Given the description of an element on the screen output the (x, y) to click on. 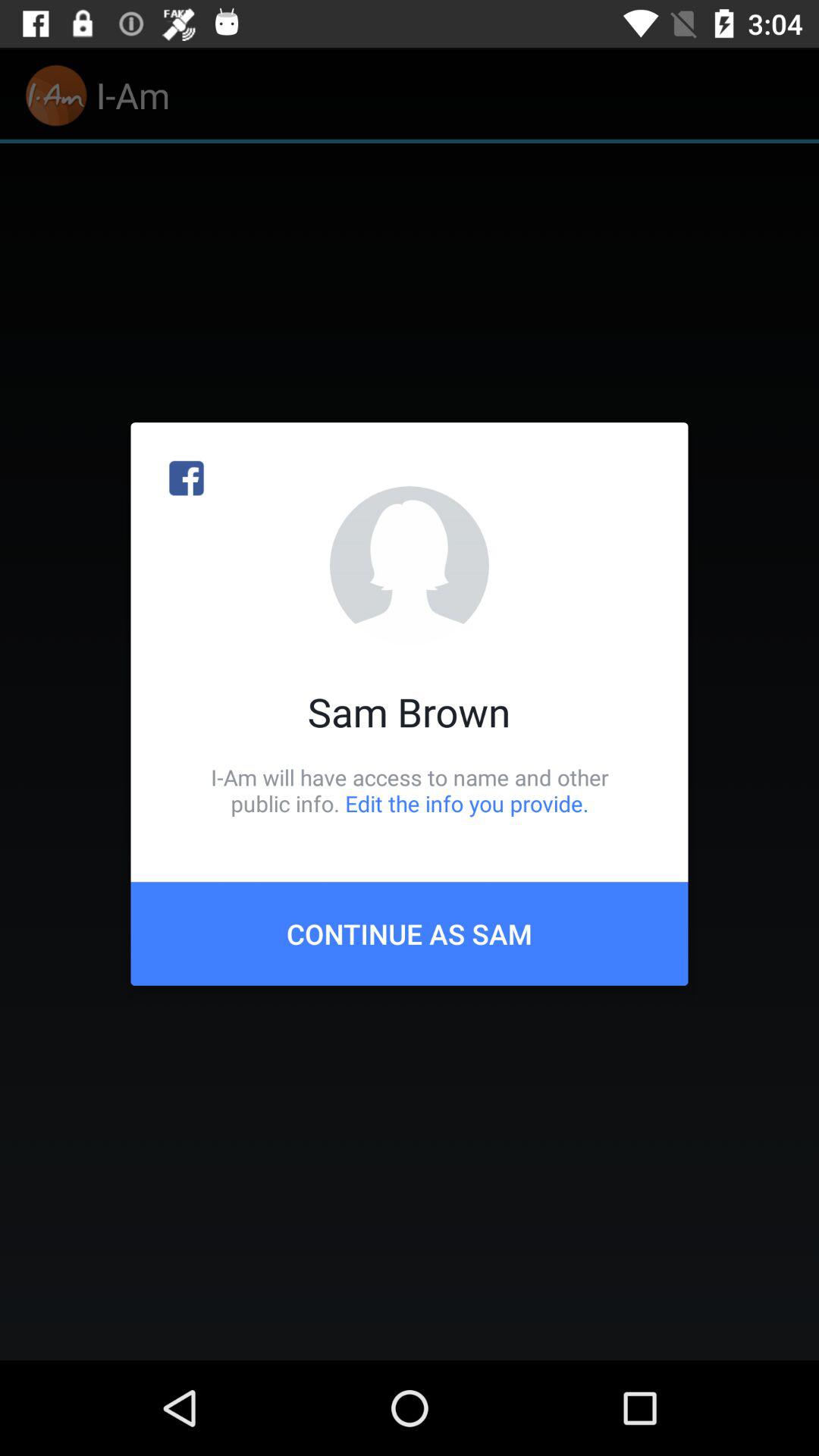
scroll to the i am will item (409, 790)
